Given the description of an element on the screen output the (x, y) to click on. 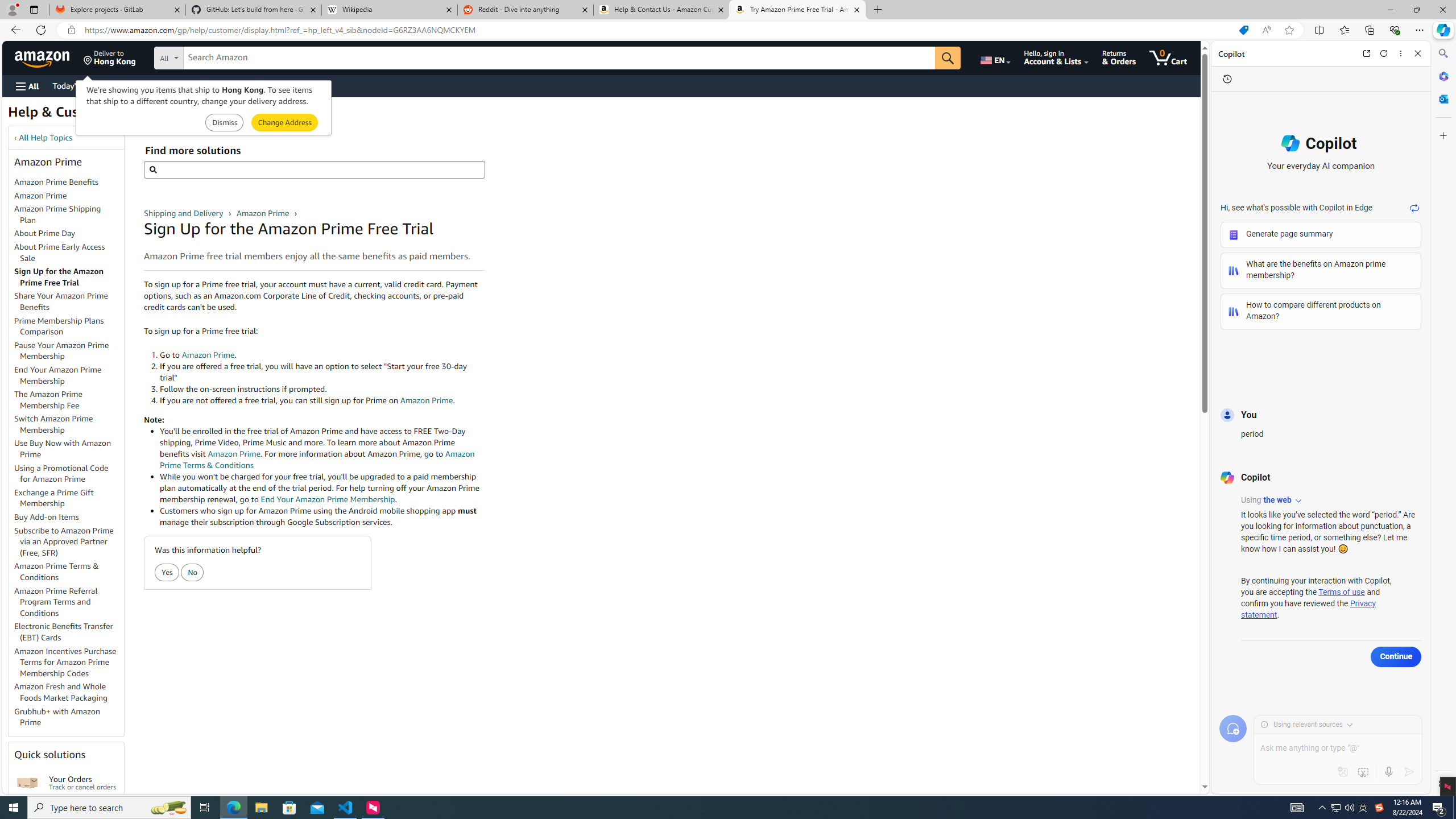
Amazon Prime Shipping Plan (57, 214)
About Prime Early Access Sale (68, 252)
Prime Membership Plans Comparison (58, 326)
Submit (284, 122)
Deliver to Hong Kong (109, 57)
Grubhub+ with Amazon Prime (57, 716)
Choose a language for shopping. (995, 57)
